Given the description of an element on the screen output the (x, y) to click on. 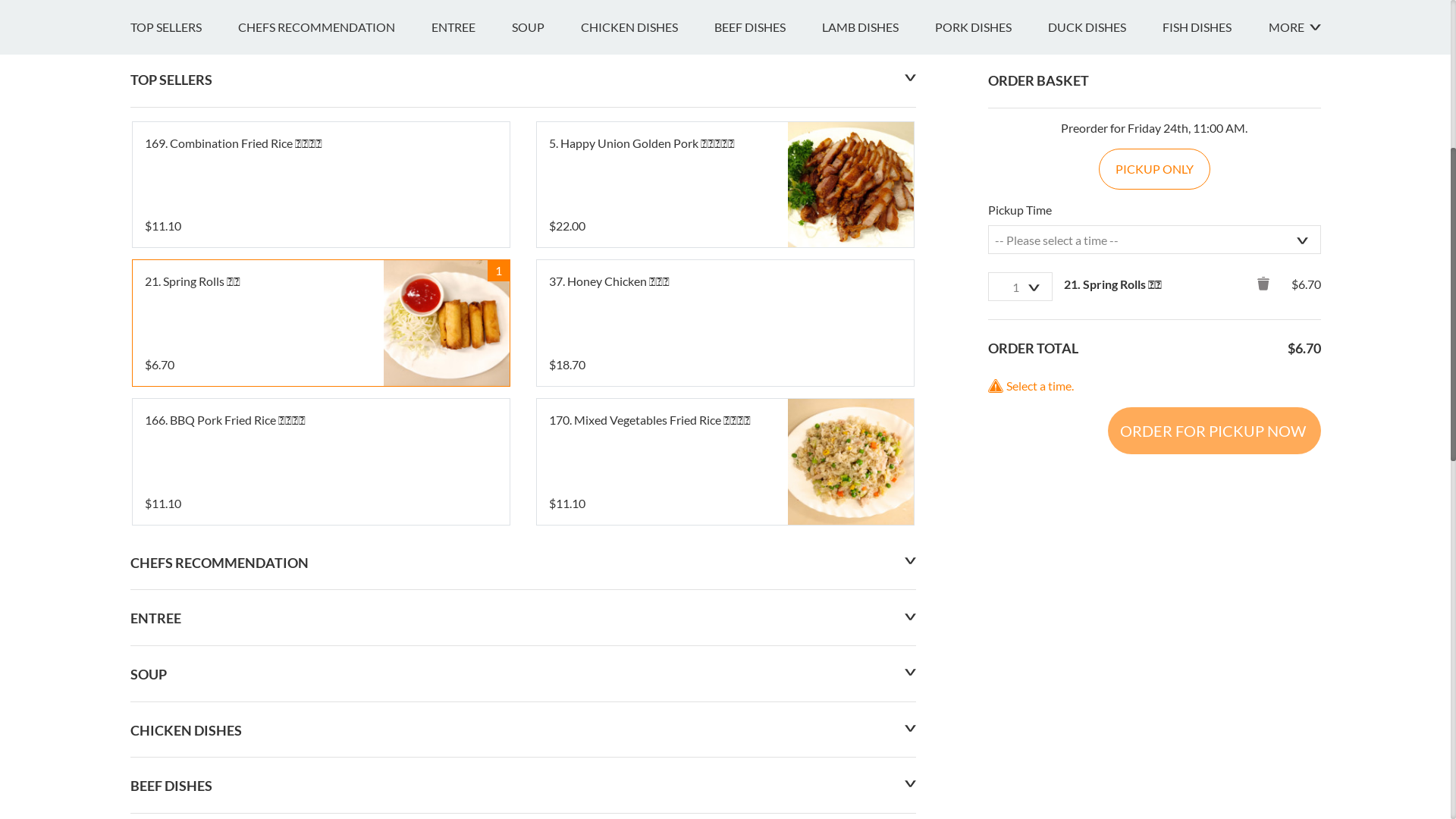
4.3 Element type: text (146, 278)
LAMB DISHES Element type: text (878, 414)
CHICKEN DISHES Element type: text (647, 414)
BEEF DISHES Element type: text (768, 414)
PORK DISHES Element type: text (990, 414)
MORE Element type: text (1293, 414)
CHEFS RECOMMENDATION Element type: text (334, 414)
TOP SELLERS Element type: text (184, 414)
ENTREE Element type: text (470, 414)
Happy Union Restaurant Element type: text (276, 223)
FISH DISHES Element type: text (1214, 414)
EN Element type: text (138, 16)
PICKUP ONLY Element type: text (1154, 556)
DUCK DISHES Element type: text (1105, 414)
SOUP Element type: text (545, 414)
